Given the description of an element on the screen output the (x, y) to click on. 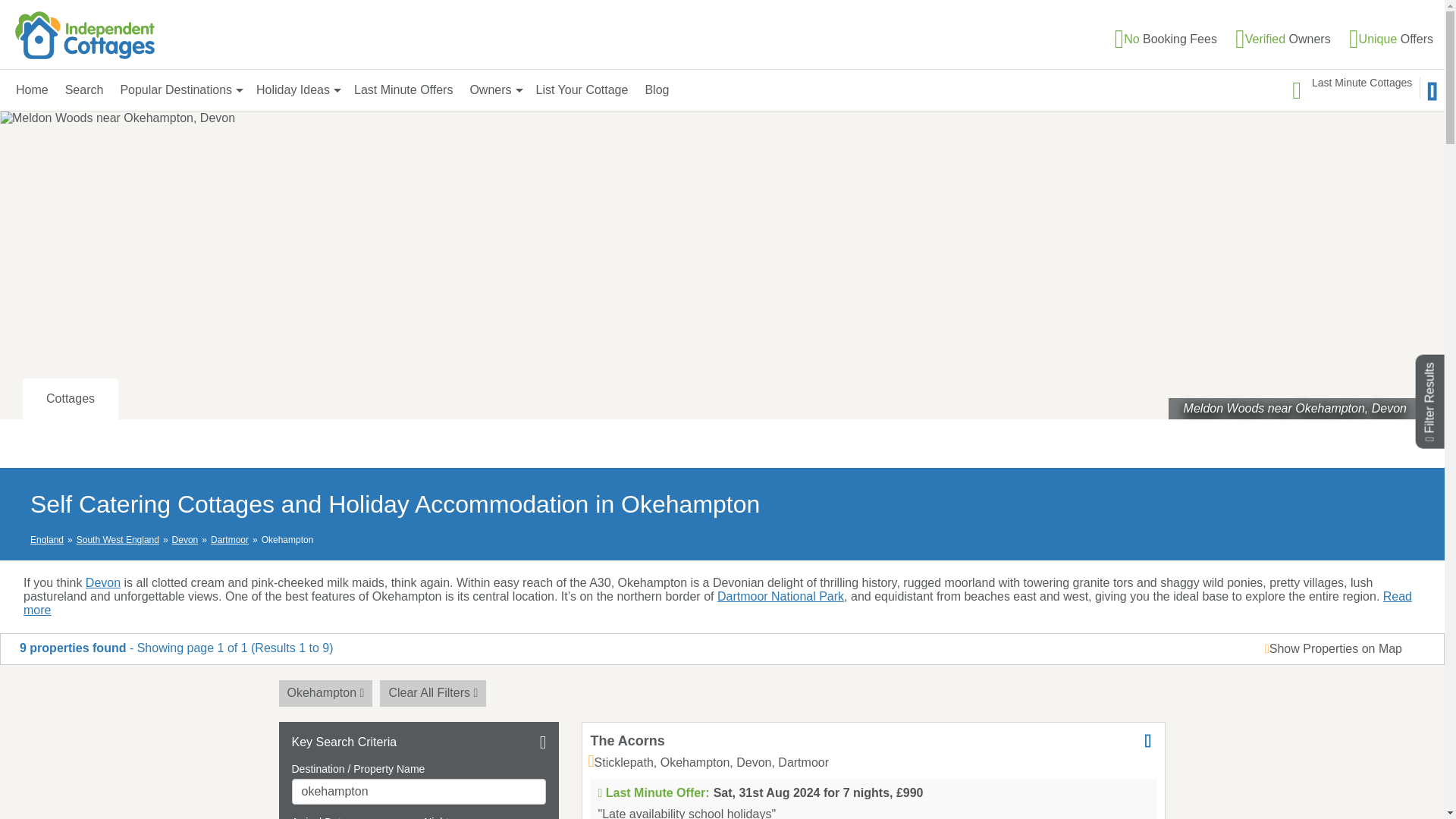
Clear All Filters (433, 693)
Popular Destinations (179, 89)
Remove Okehampton (325, 693)
Search (84, 89)
okehampton (418, 791)
View location (708, 762)
The Acorns, Sticklepath, Okehampton, Devon, Dartmoor (626, 740)
Add to favourites (1147, 740)
Home (32, 89)
Holiday Ideas (296, 89)
